Given the description of an element on the screen output the (x, y) to click on. 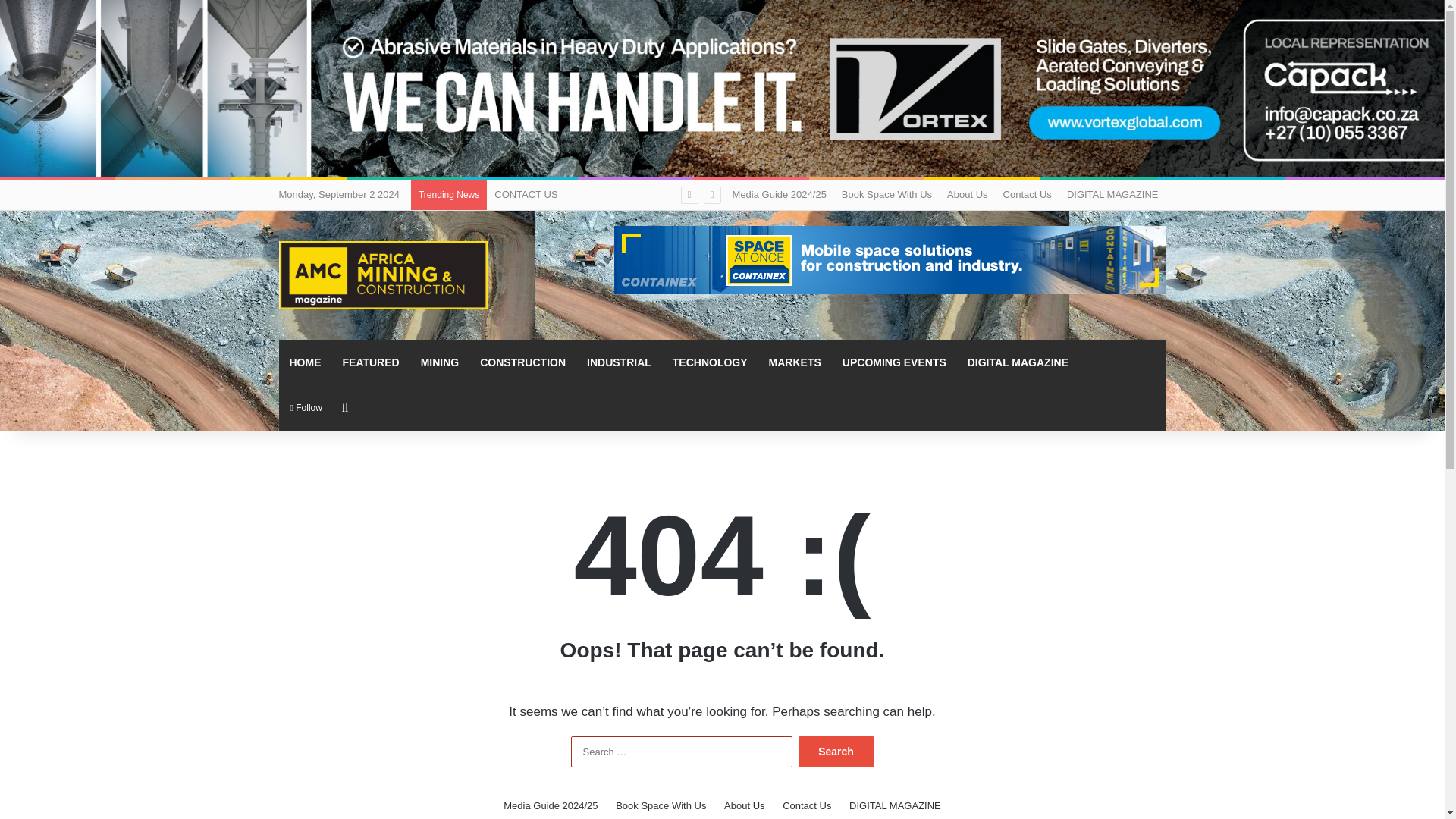
UPCOMING EVENTS (893, 361)
CONSTRUCTION (522, 361)
CONTACT US (526, 194)
Follow (306, 407)
MINING (440, 361)
Search (835, 751)
TECHNOLOGY (710, 361)
DIGITAL MAGAZINE (1112, 194)
Book Space With Us (886, 194)
About Us (966, 194)
